Given the description of an element on the screen output the (x, y) to click on. 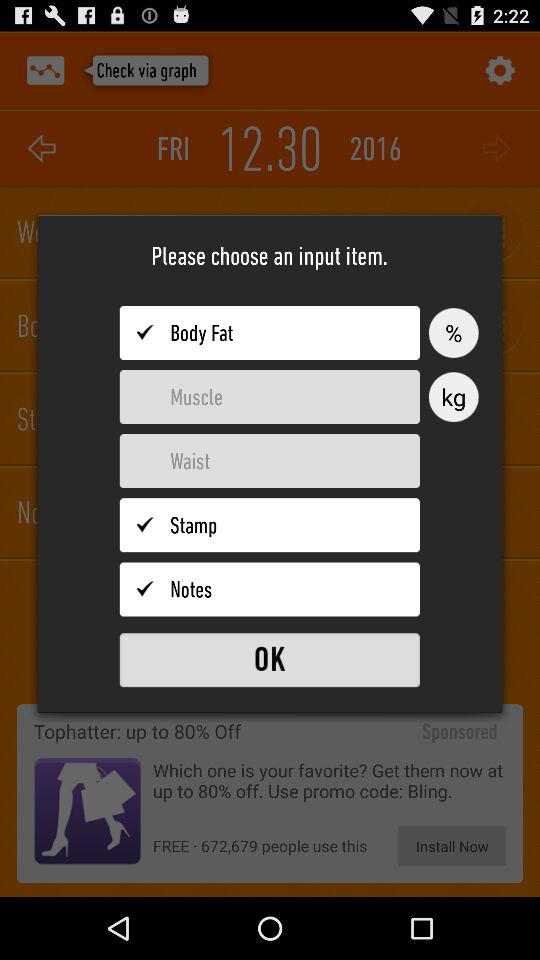
stamp input (269, 525)
